Given the description of an element on the screen output the (x, y) to click on. 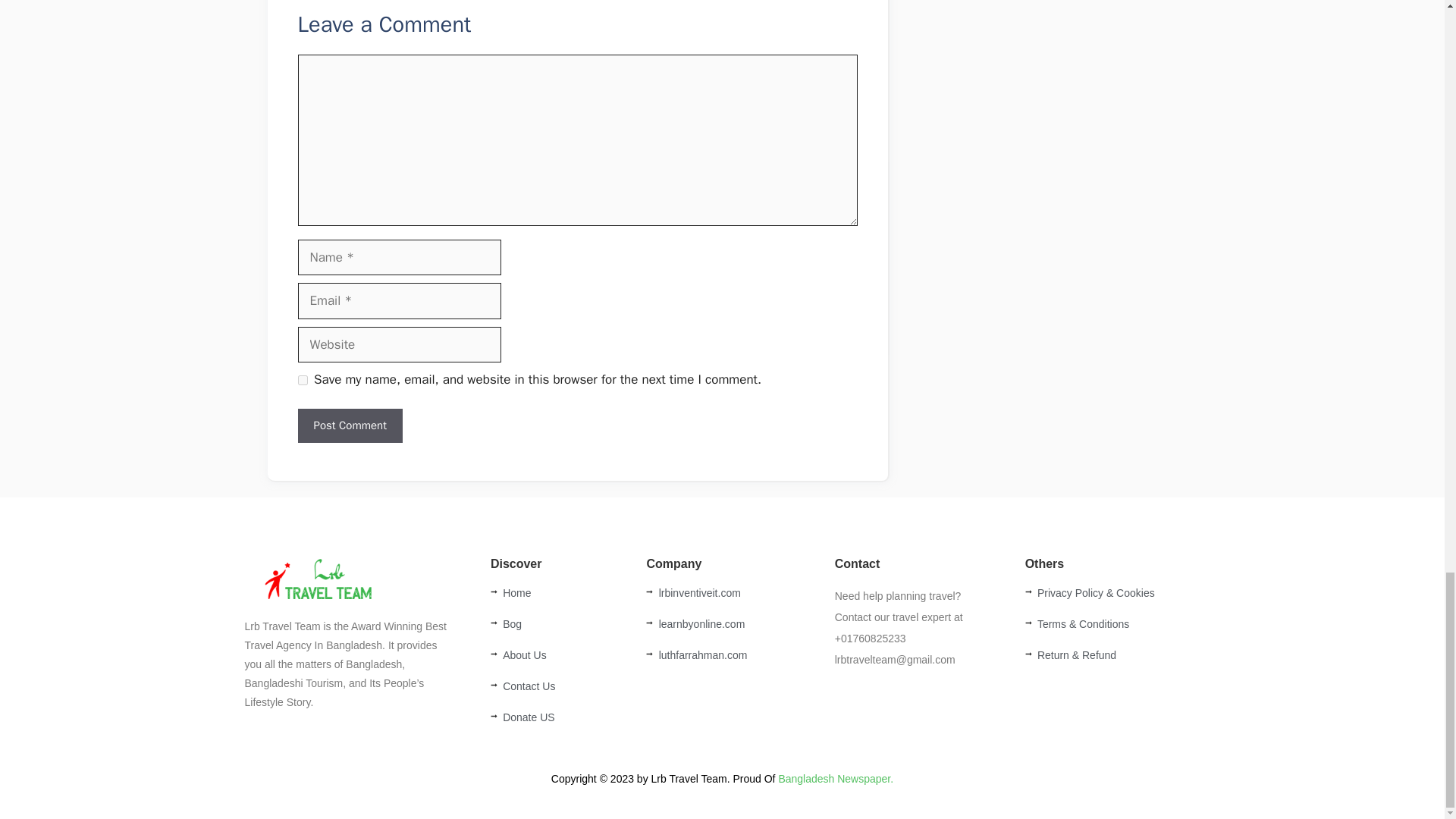
yes (302, 379)
Post Comment (349, 425)
Post Comment (349, 425)
